Given the description of an element on the screen output the (x, y) to click on. 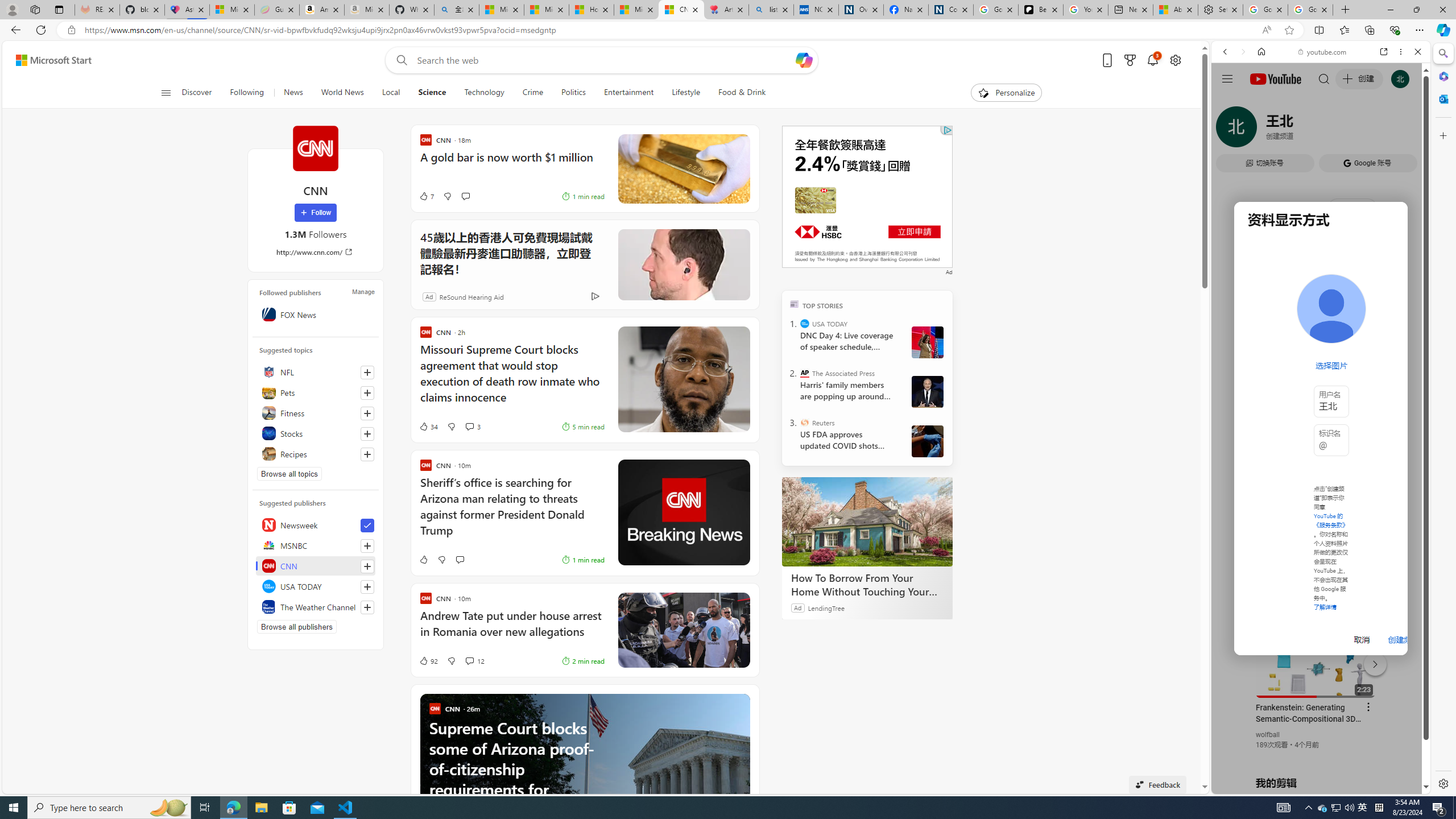
US[ju] (1249, 785)
wolfball (1268, 734)
Show More Music (1390, 310)
Science (432, 92)
Follow this source (367, 607)
Search the web (1326, 78)
Open link in new tab (1383, 51)
Follow (315, 212)
Local (390, 92)
